Given the description of an element on the screen output the (x, y) to click on. 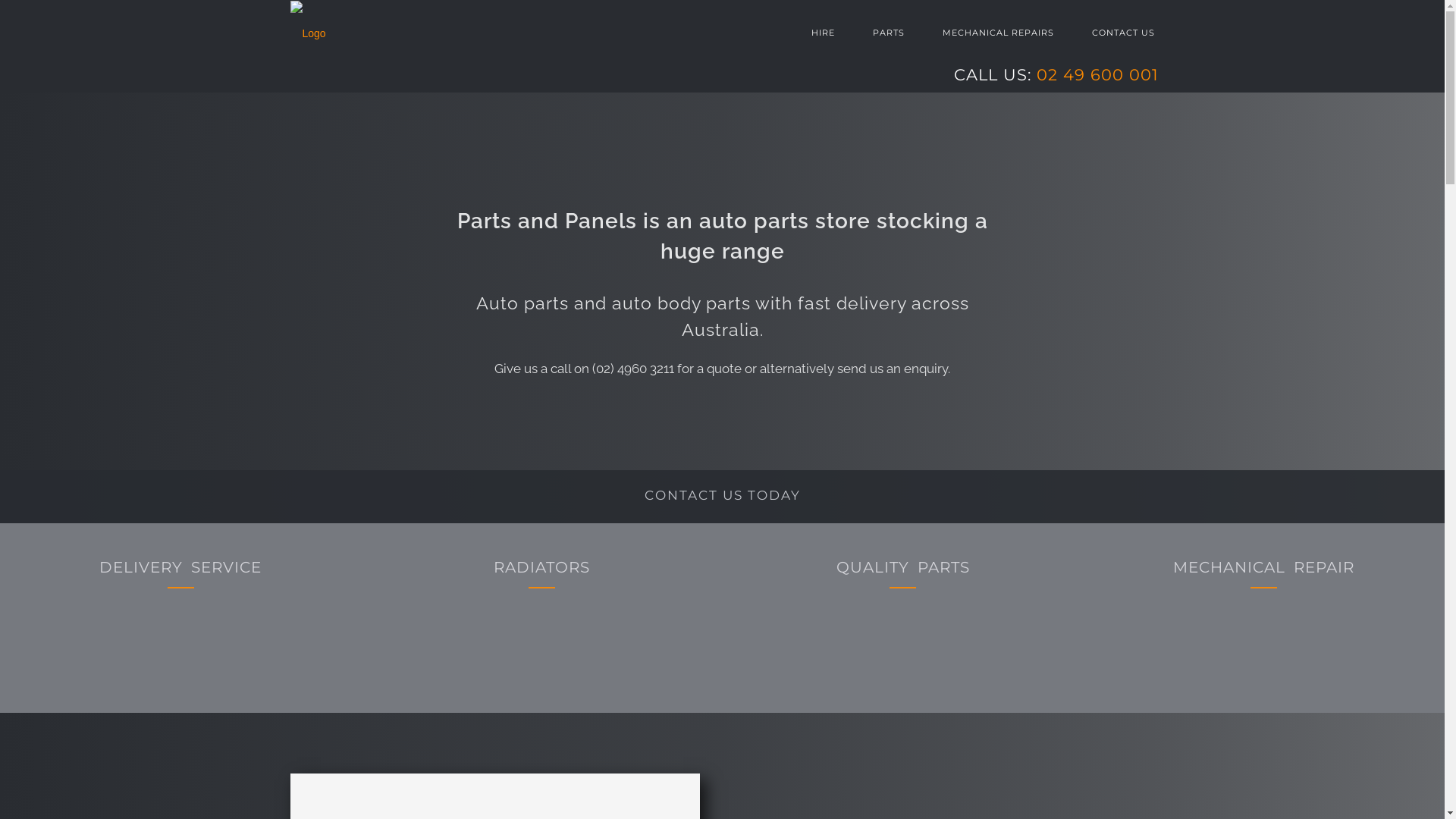
CONTACT US Element type: text (1113, 32)
MECHANICAL REPAIRS Element type: text (998, 32)
PARTS Element type: text (888, 32)
02 49 600 001 Element type: text (1096, 74)
HIRE Element type: text (832, 32)
CONTACT US TODAY Element type: text (722, 496)
